Given the description of an element on the screen output the (x, y) to click on. 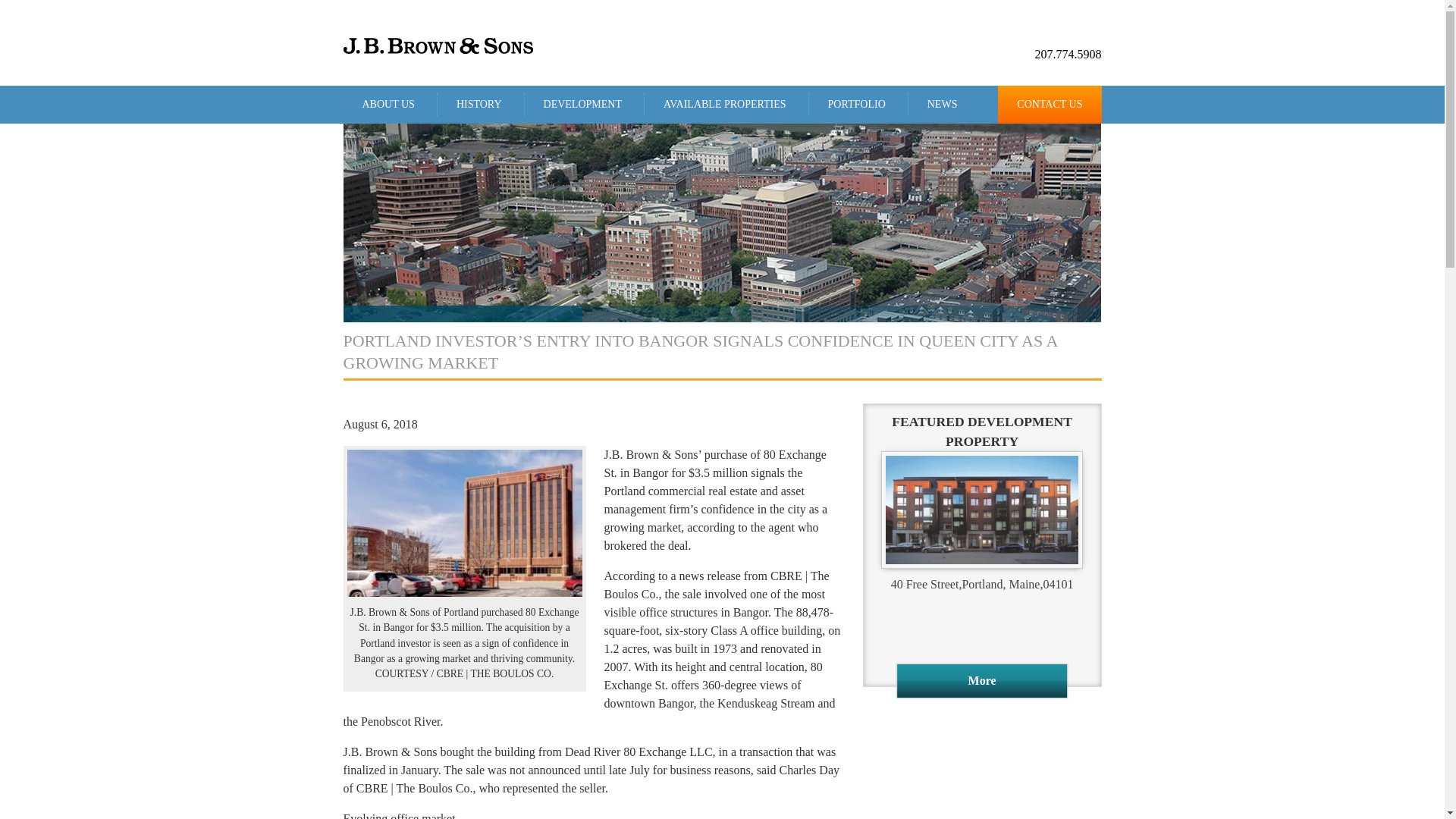
HISTORY (478, 104)
207.774.5908 (1066, 54)
ABOUT US (387, 104)
DEVELOPMENT (582, 104)
CONTACT US (1048, 104)
News (941, 104)
Contact Us (1048, 104)
NEWS (941, 104)
207.774.5908 (1066, 54)
Available Development Properties (724, 104)
History (478, 104)
About Us (387, 104)
AVAILABLE PROPERTIES (724, 104)
PORTFOLIO (856, 104)
Commercial Development (582, 104)
